Given the description of an element on the screen output the (x, y) to click on. 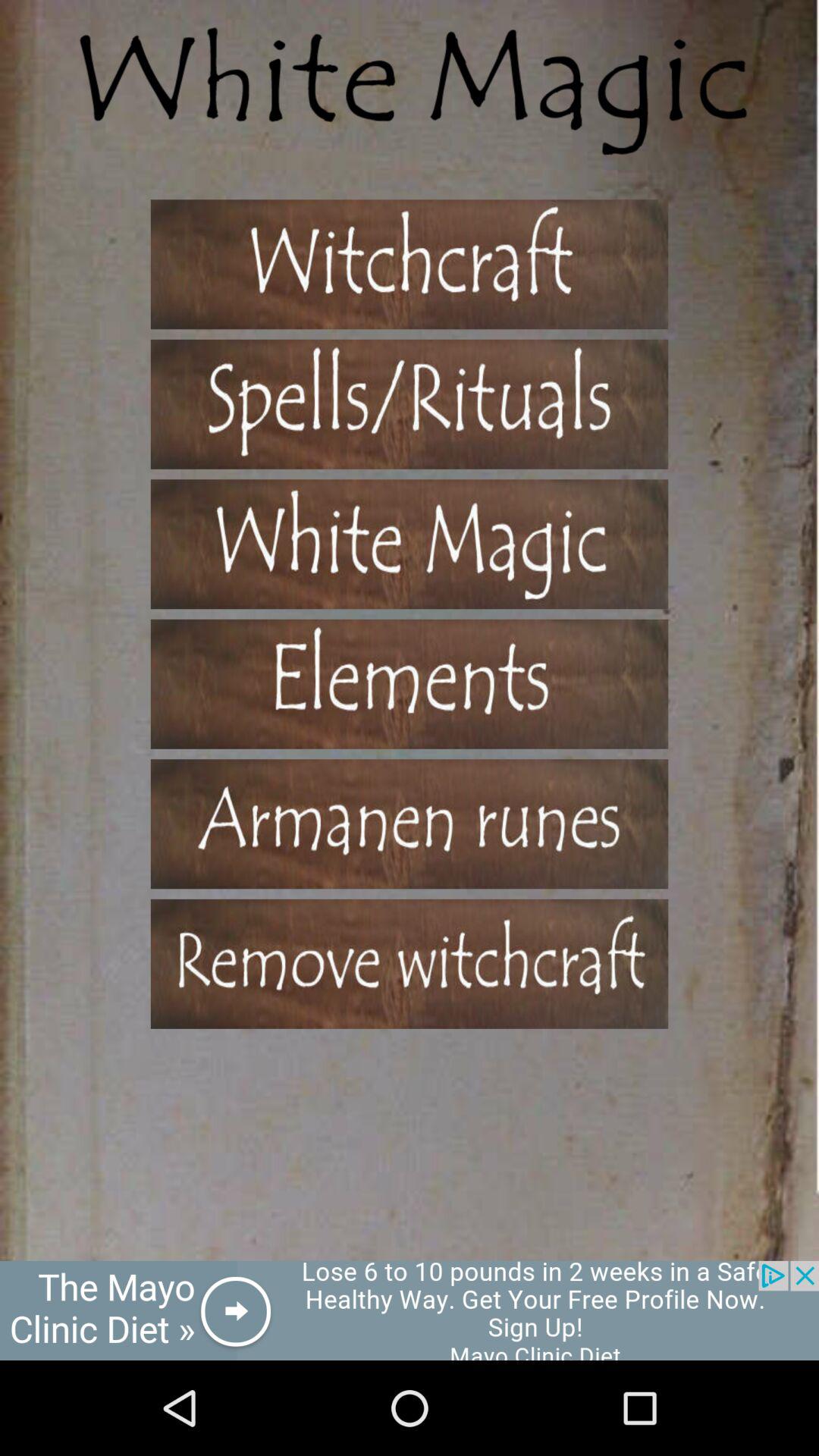
remove witchcraft (409, 963)
